Given the description of an element on the screen output the (x, y) to click on. 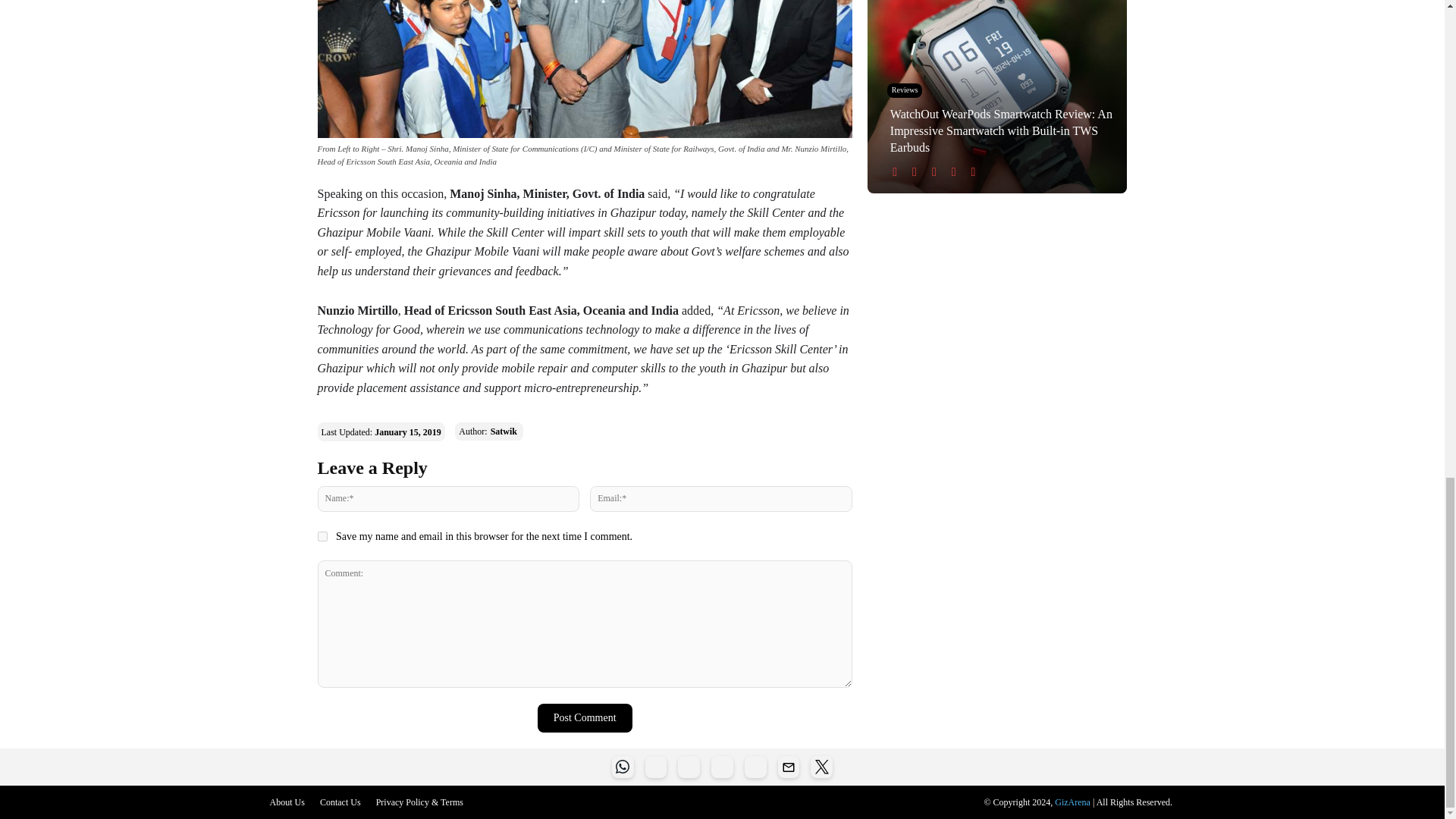
yes (321, 536)
Post Comment (584, 717)
